Given the description of an element on the screen output the (x, y) to click on. 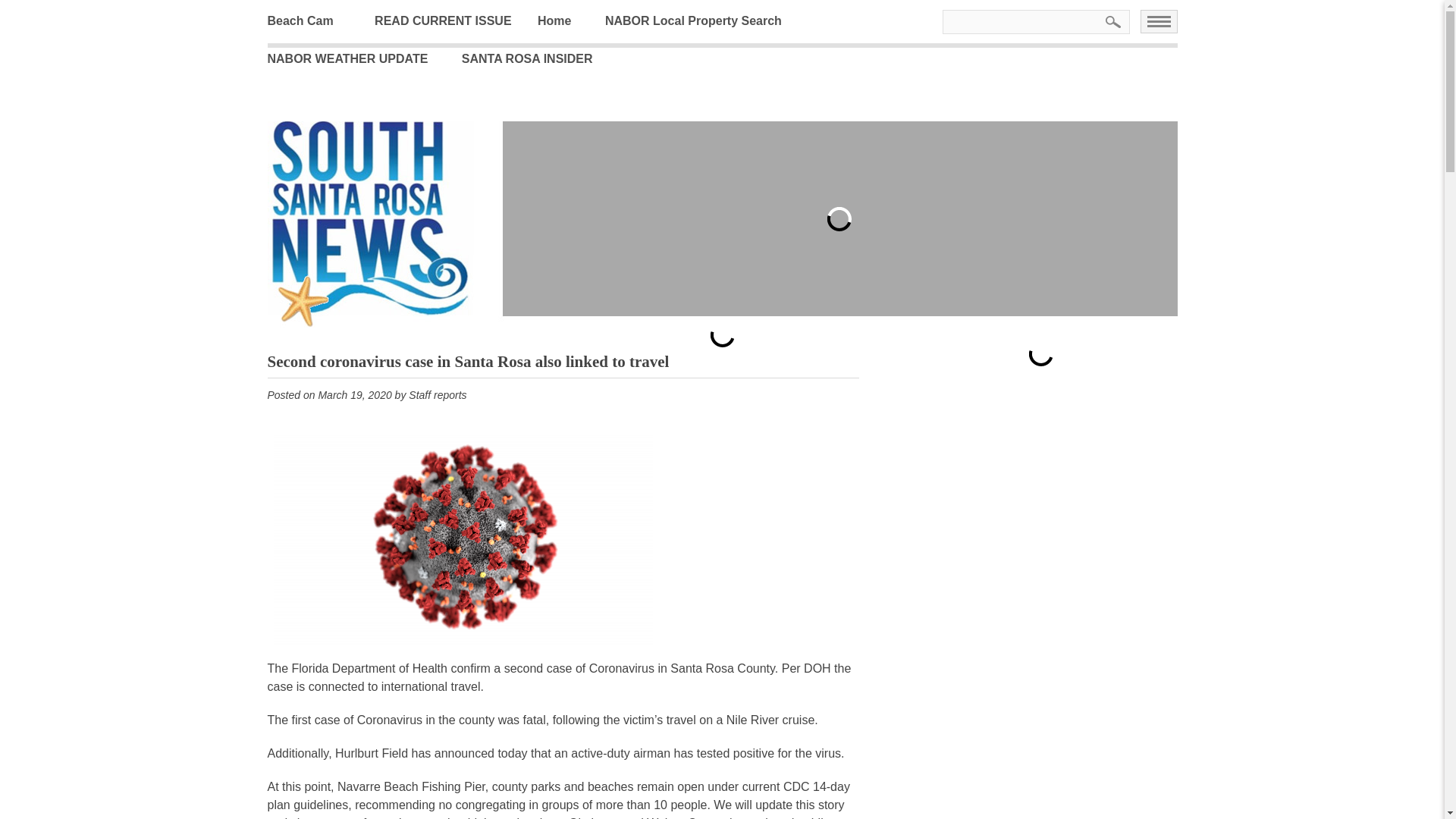
Beach Cam (310, 21)
NABOR Local Property Search (705, 21)
READ CURRENT ISSUE (454, 21)
NABOR WEATHER UPDATE (357, 58)
SANTA ROSA INSIDER (538, 58)
Home (565, 21)
